Given the description of an element on the screen output the (x, y) to click on. 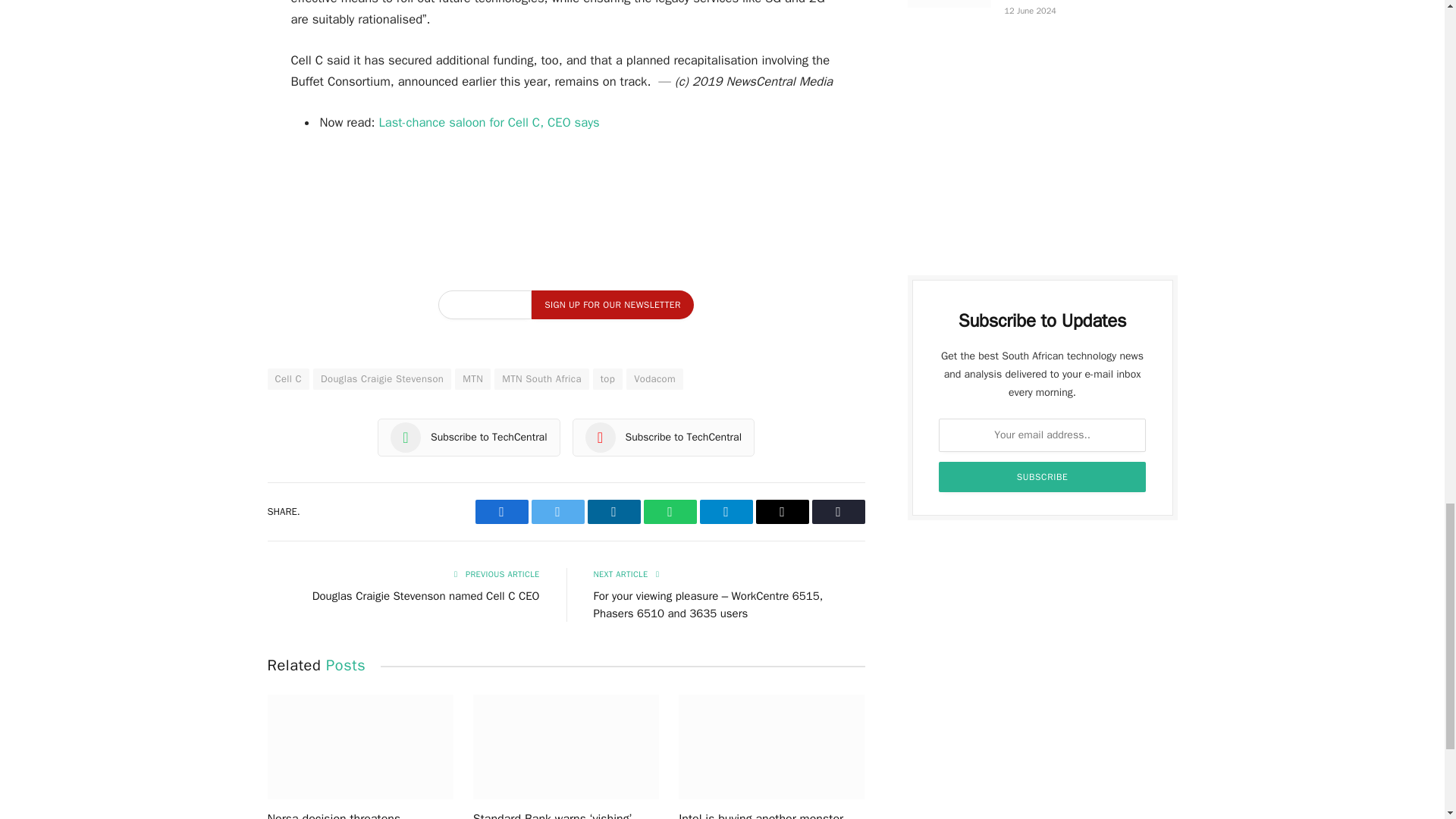
Sign up for our newsletter (612, 304)
Subscribe (1043, 476)
